Given the description of an element on the screen output the (x, y) to click on. 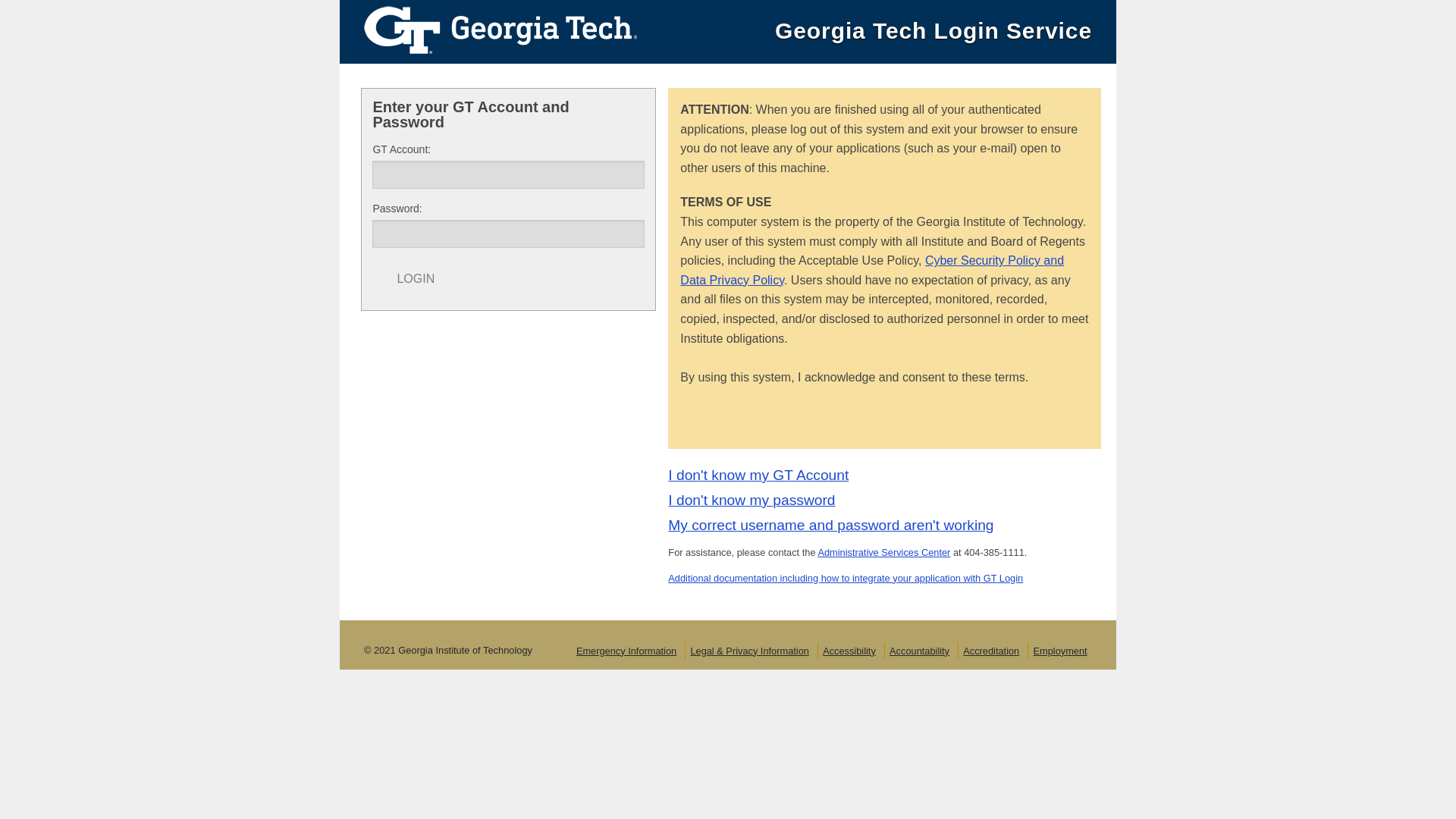
LOGIN (415, 279)
LOGIN (415, 279)
I don't know my password (751, 499)
Emergency Information (626, 650)
Georgia Institute of Technology (488, 28)
Employment (1059, 650)
I don't know my GT Account (758, 474)
Cyber Security Policy and Data Privacy Policy (871, 269)
Administrative Services Center (883, 552)
Accessibility (849, 650)
Accountability (919, 650)
My correct username and password aren't working (830, 524)
Accreditation (990, 650)
